Given the description of an element on the screen output the (x, y) to click on. 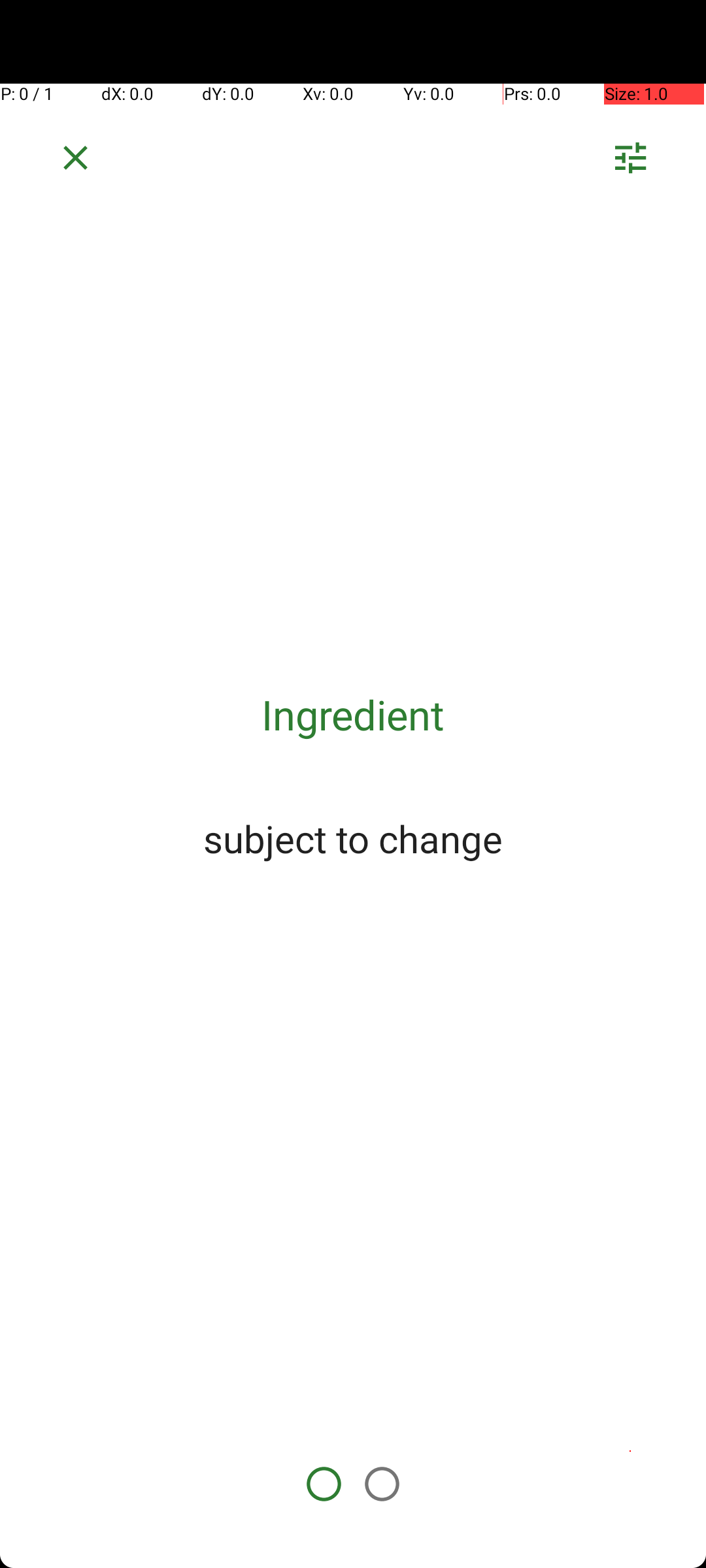
subject to change Element type: android.widget.TextView (353, 838)
